Given the description of an element on the screen output the (x, y) to click on. 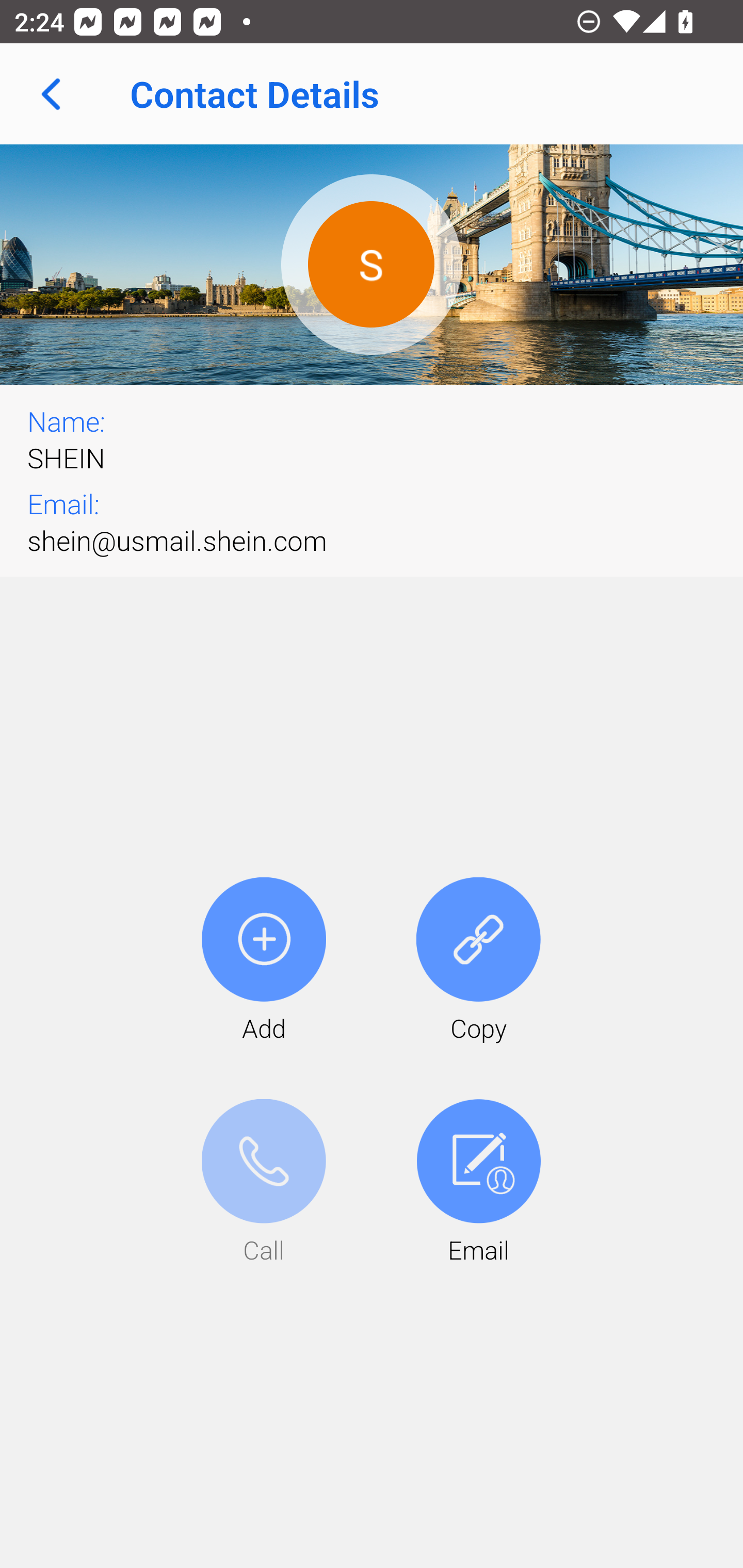
Navigate up (50, 93)
Add (264, 961)
Copy (478, 961)
Call (264, 1182)
Email (478, 1182)
